Given the description of an element on the screen output the (x, y) to click on. 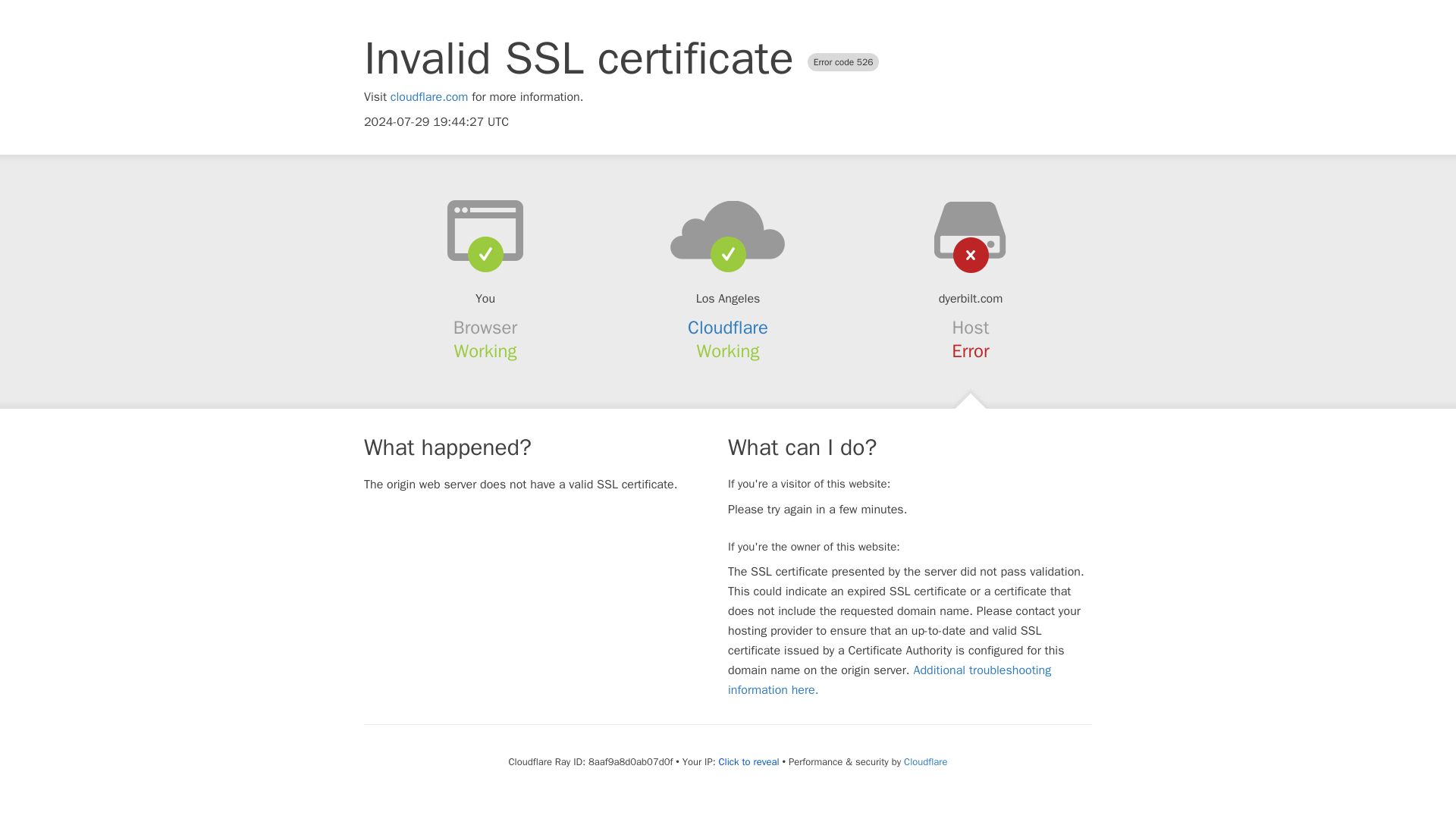
Additional troubleshooting information here. (889, 679)
cloudflare.com (429, 96)
Cloudflare (925, 761)
Click to reveal (748, 762)
Cloudflare (727, 327)
